Given the description of an element on the screen output the (x, y) to click on. 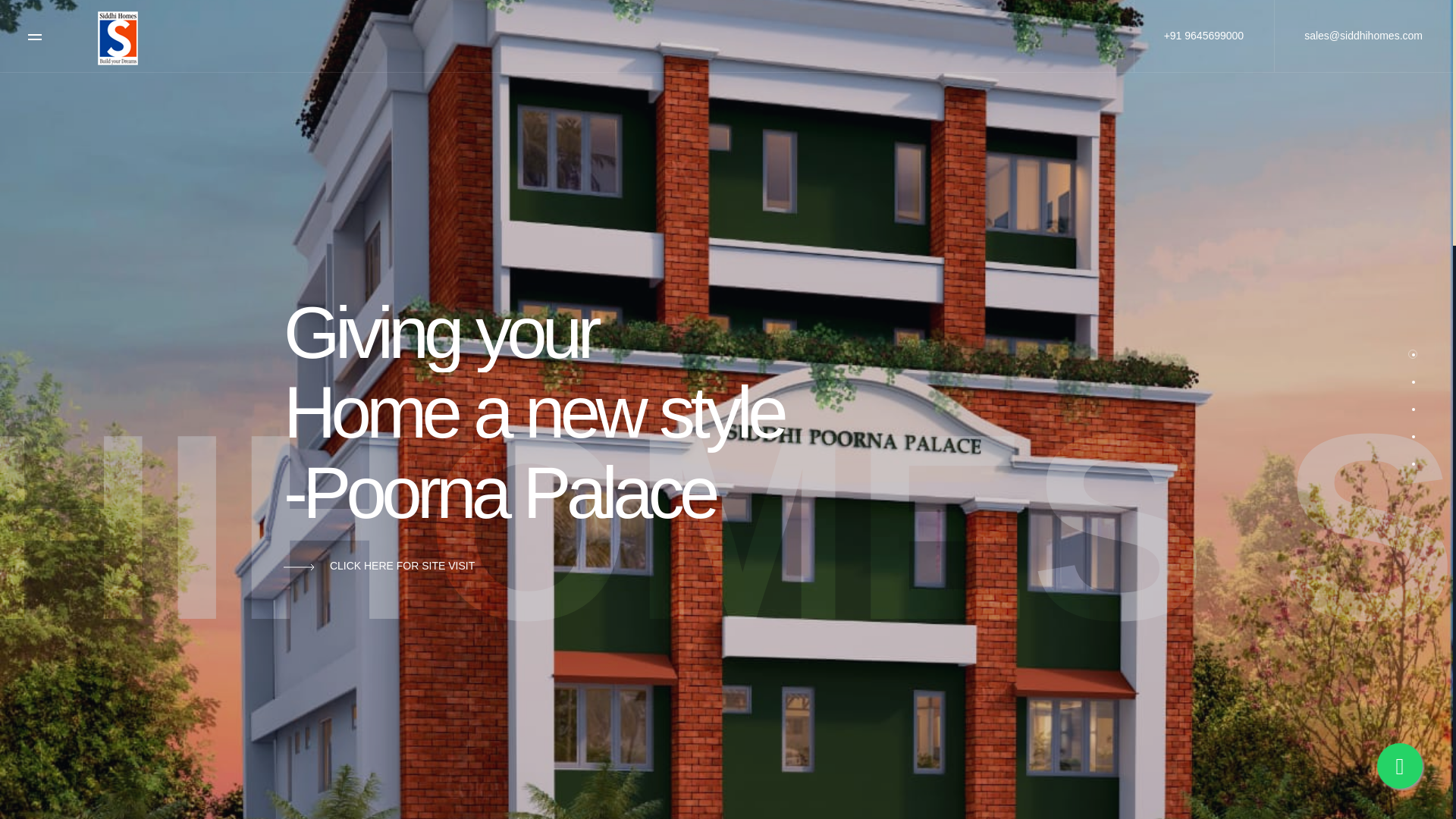
CLICK HERE FOR SITE VISIT (378, 566)
